Given the description of an element on the screen output the (x, y) to click on. 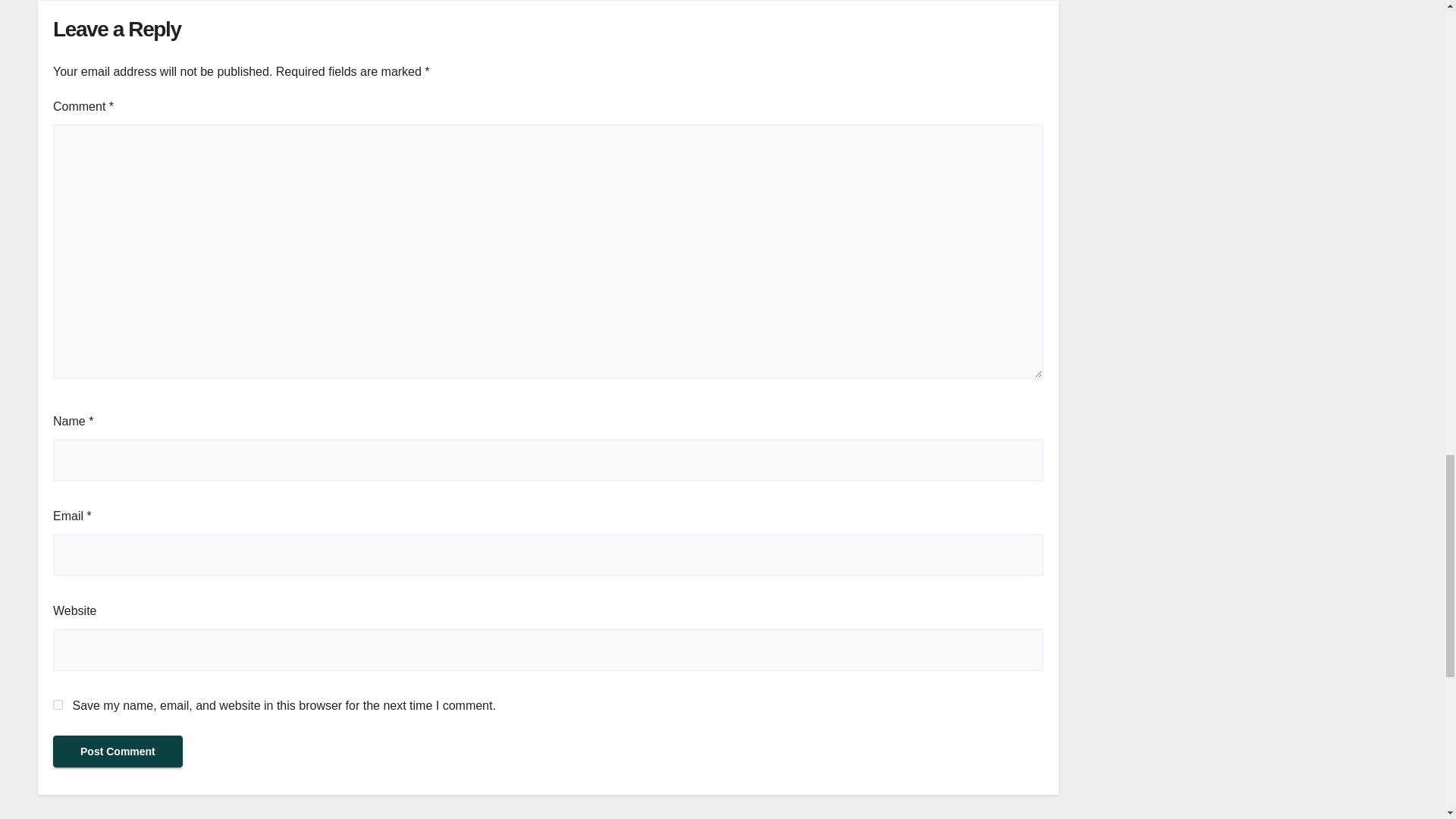
Post Comment (117, 751)
yes (57, 705)
Post Comment (117, 751)
